Given the description of an element on the screen output the (x, y) to click on. 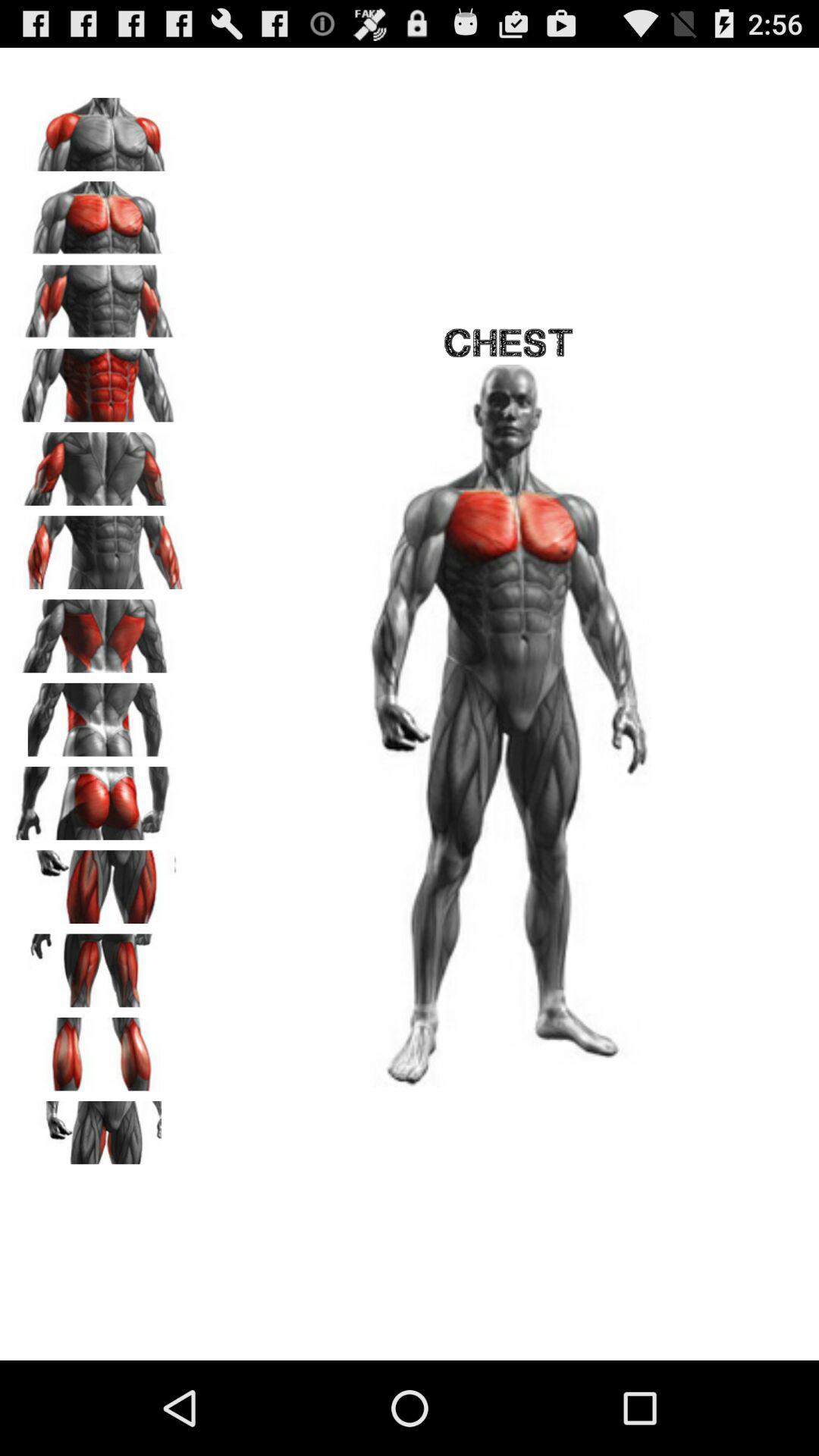
select adductor magnus exercises (99, 1132)
